Given the description of an element on the screen output the (x, y) to click on. 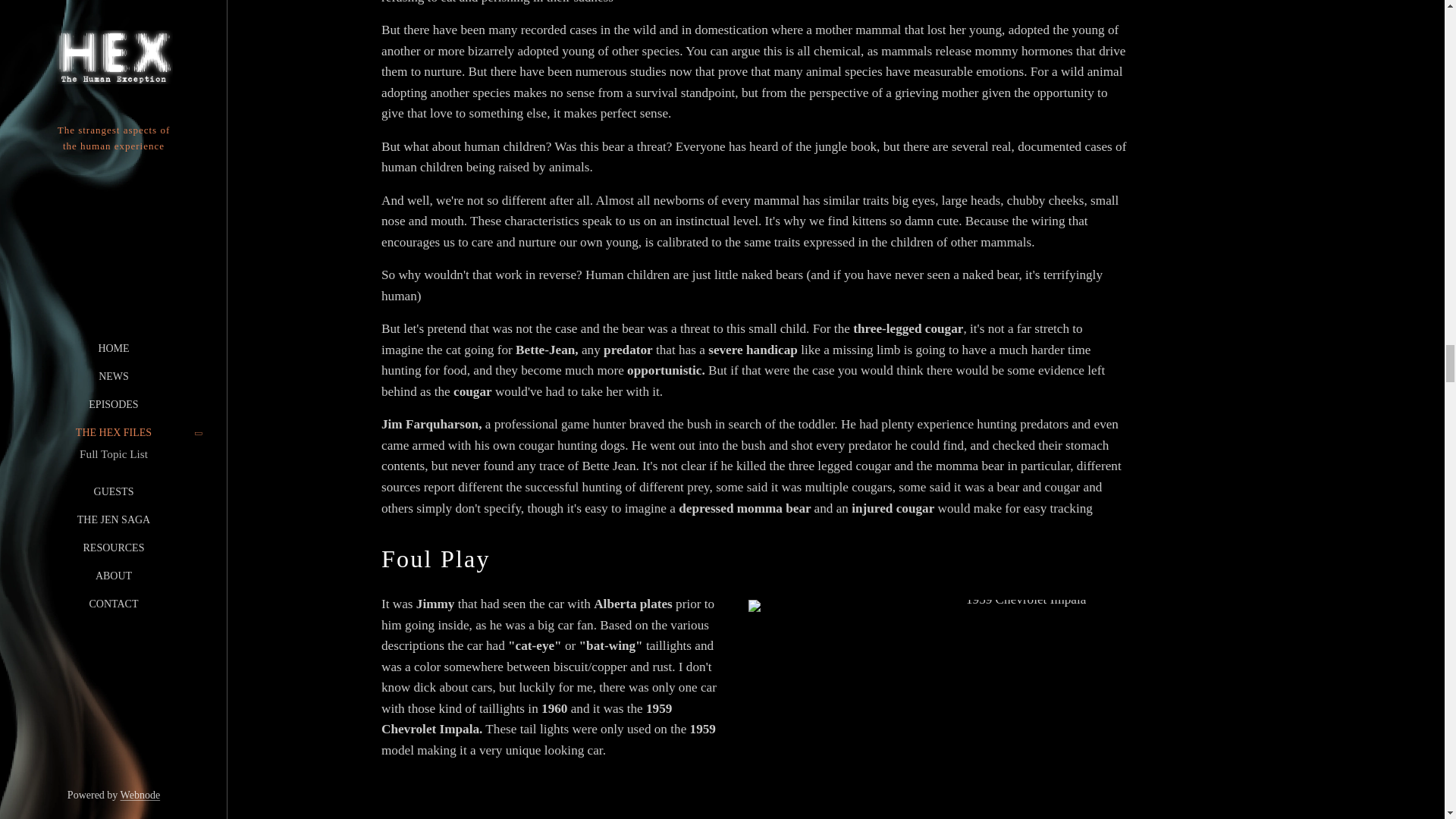
 1959 Chevrolet Impala (1019, 709)
1959 Chevrolet Impala (1019, 709)
